Given the description of an element on the screen output the (x, y) to click on. 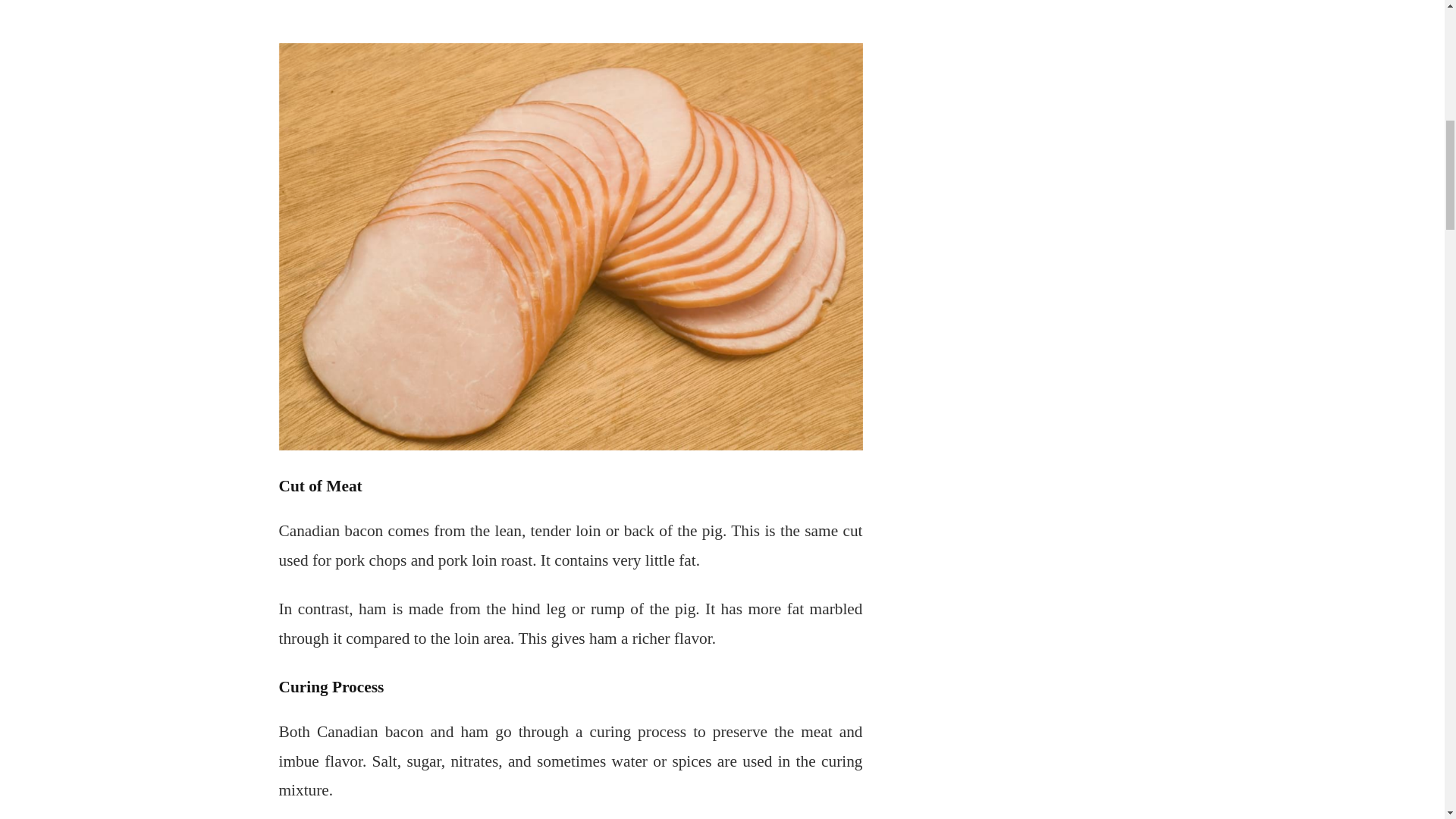
Advertisement (571, 10)
